Given the description of an element on the screen output the (x, y) to click on. 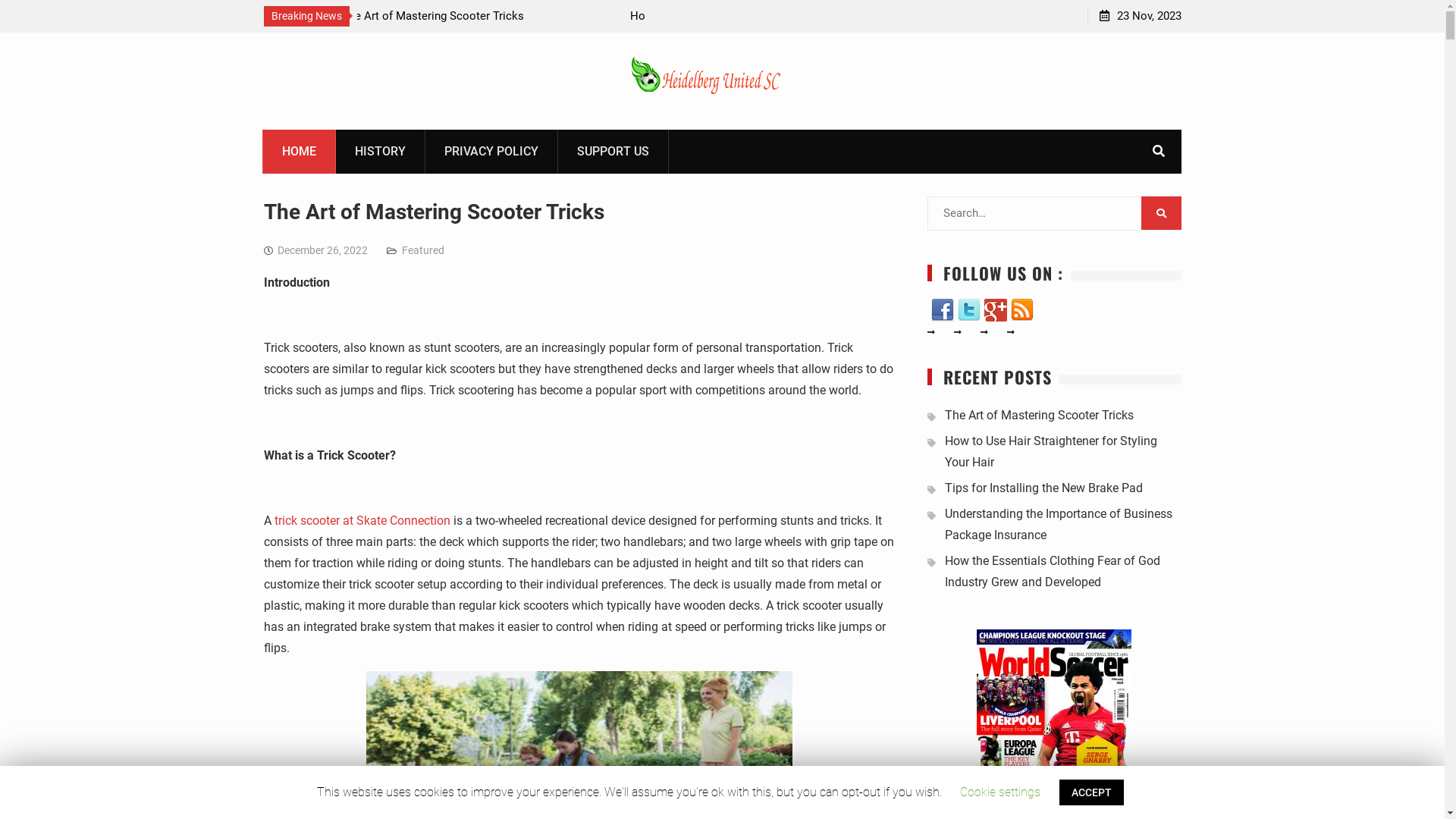
Skip to content Element type: text (0, 31)
ACCEPT Element type: text (1091, 792)
December 26, 2022 Element type: text (322, 250)
Cookie settings Element type: text (1000, 791)
The Art of Mastering Scooter Tricks Element type: text (1038, 414)
Understanding the Importance of Business Package Insurance Element type: text (1058, 524)
HISTORY Element type: text (379, 151)
Featured Element type: text (422, 250)
Understanding the Importance of Business Package Insurance Element type: text (212, 26)
HOME Element type: text (298, 151)
The Art of Mastering Scooter Tricks Element type: text (454, 15)
SUPPORT US Element type: text (613, 151)
Tips for Installing the New Brake Pad Element type: text (1043, 487)
Search for: Element type: hover (1053, 213)
How to Use Hair Straightener for Styling Your Hair Element type: text (1050, 451)
The Art of Mastering Scooter Tricks Element type: text (433, 211)
PRIVACY POLICY Element type: text (490, 151)
trick scooter at Skate Connection Element type: text (362, 520)
